Given the description of an element on the screen output the (x, y) to click on. 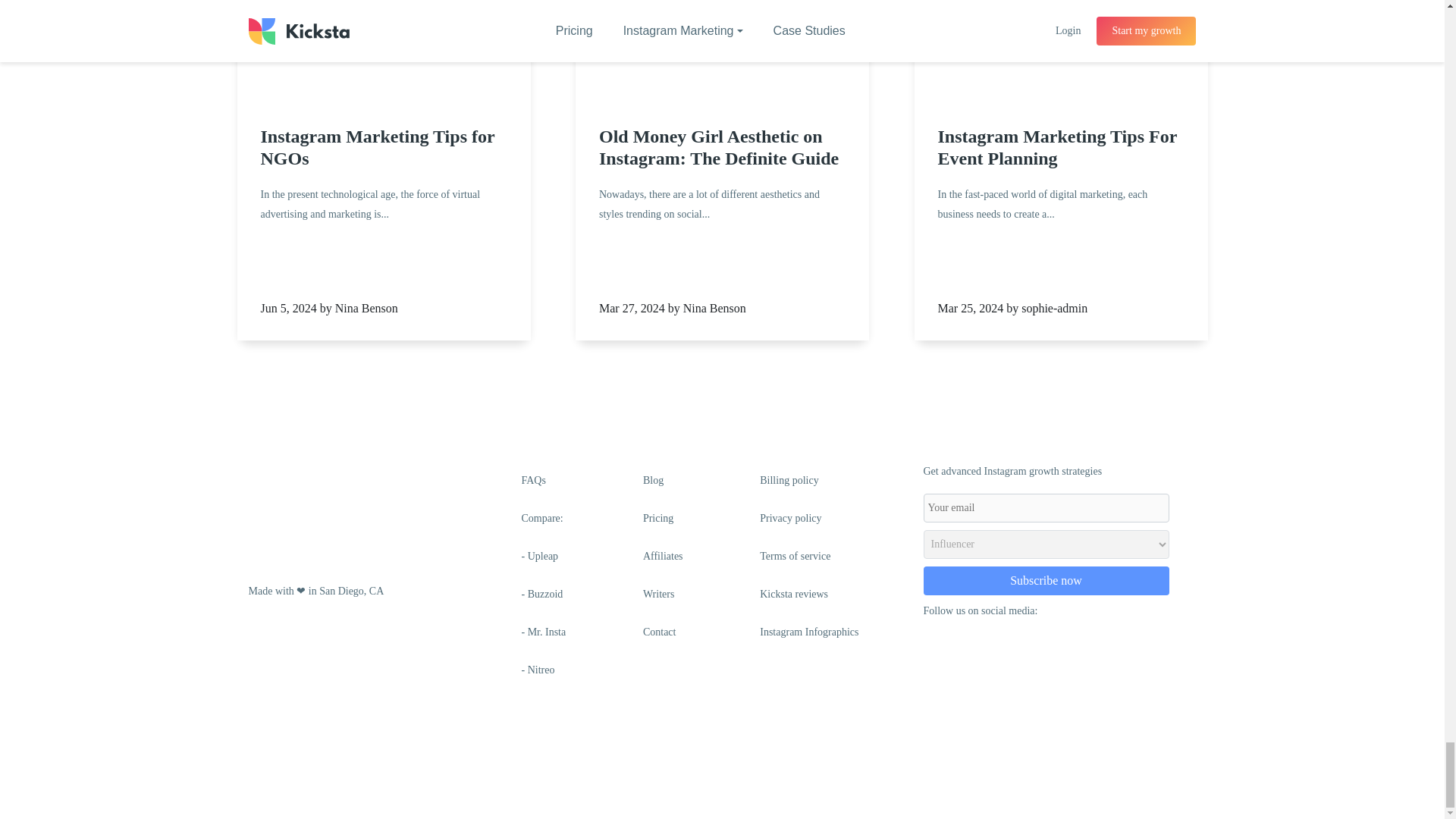
Subscribe now (1046, 580)
